Given the description of an element on the screen output the (x, y) to click on. 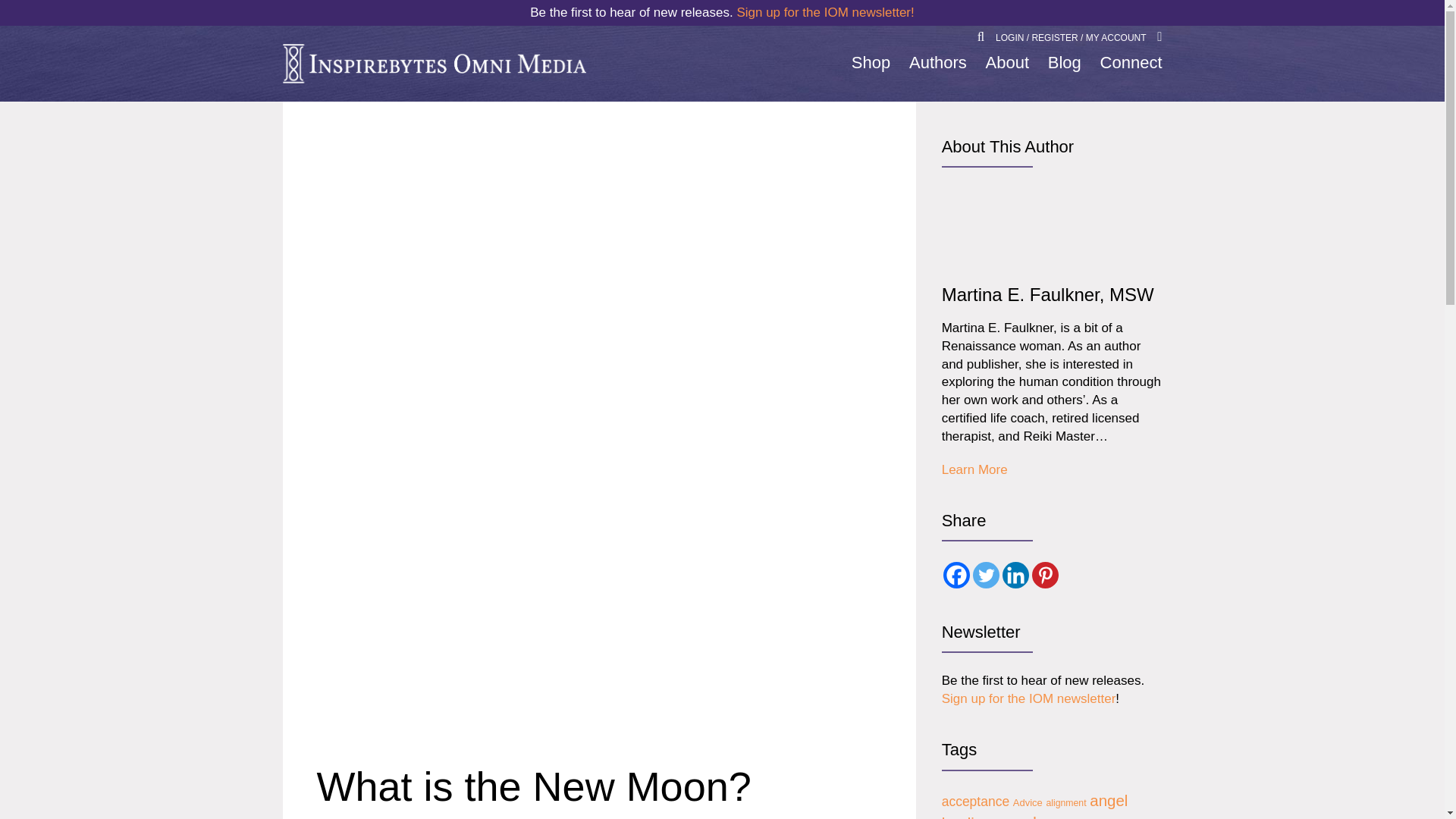
Facebook (956, 574)
Learn More (974, 469)
About (1007, 62)
Sign up for the IOM newsletter! (825, 12)
Sign up for the IOM newsletter (1029, 698)
Connect (1130, 62)
Advice (1027, 802)
Pinterest (1045, 574)
Twitter (985, 574)
Linkedin (1016, 574)
